Given the description of an element on the screen output the (x, y) to click on. 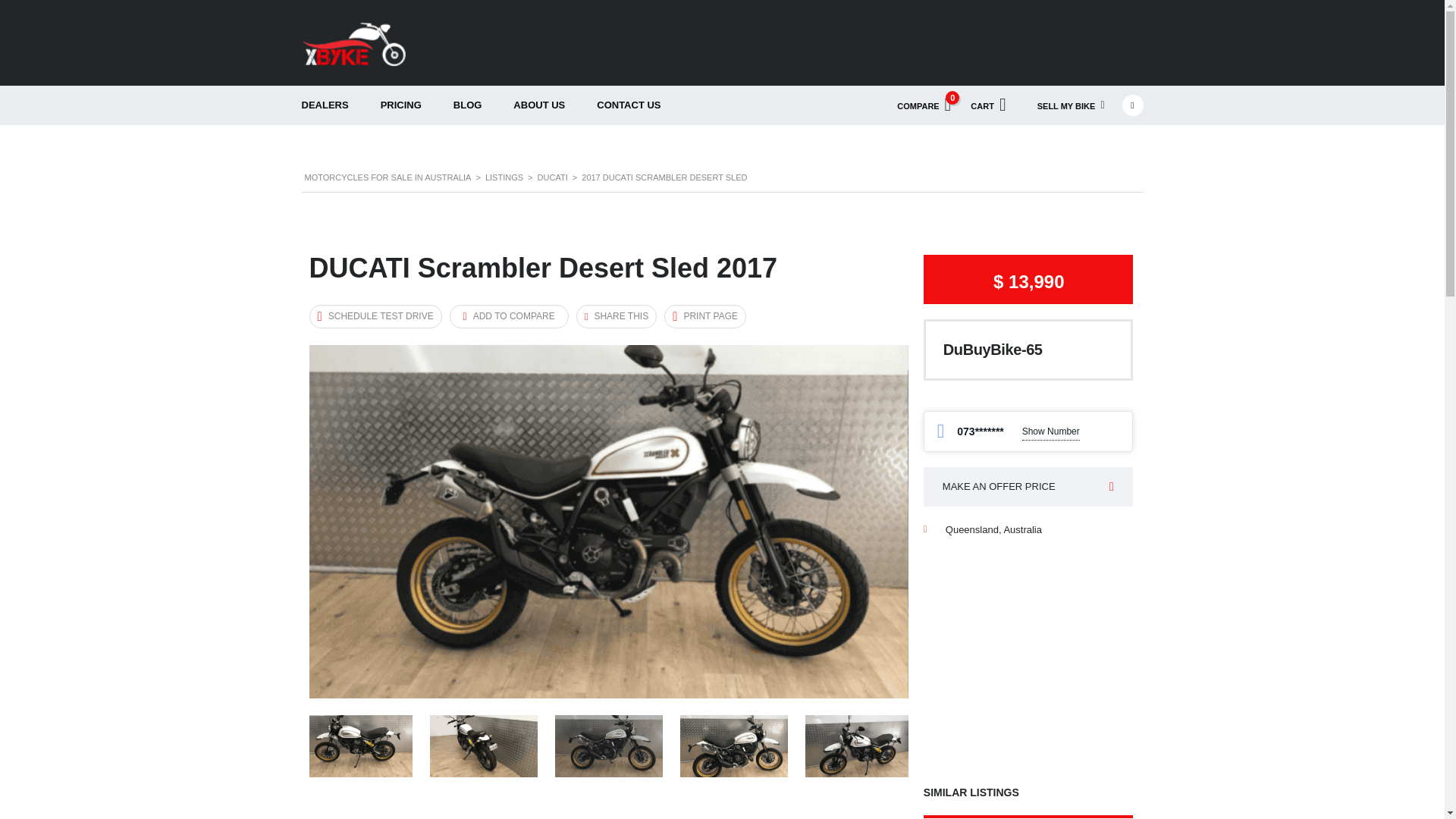
ADD TO COMPARE (509, 316)
MOTORCYCLES FOR SALE IN AUSTRALIA (387, 176)
Go to Motorcycles For Sale in Australia. (387, 176)
Watch shop items (987, 105)
LISTINGS (503, 176)
DEALERS (324, 105)
CONTACT US (628, 105)
SELL MY BIKE (923, 105)
2017 Ducati Scrambler DESERT SLED (1071, 105)
Go to the DUCATI Make archives. (608, 745)
BLOG (552, 176)
ABOUT US (467, 105)
Go to Listings. (538, 105)
Home (503, 176)
